Given the description of an element on the screen output the (x, y) to click on. 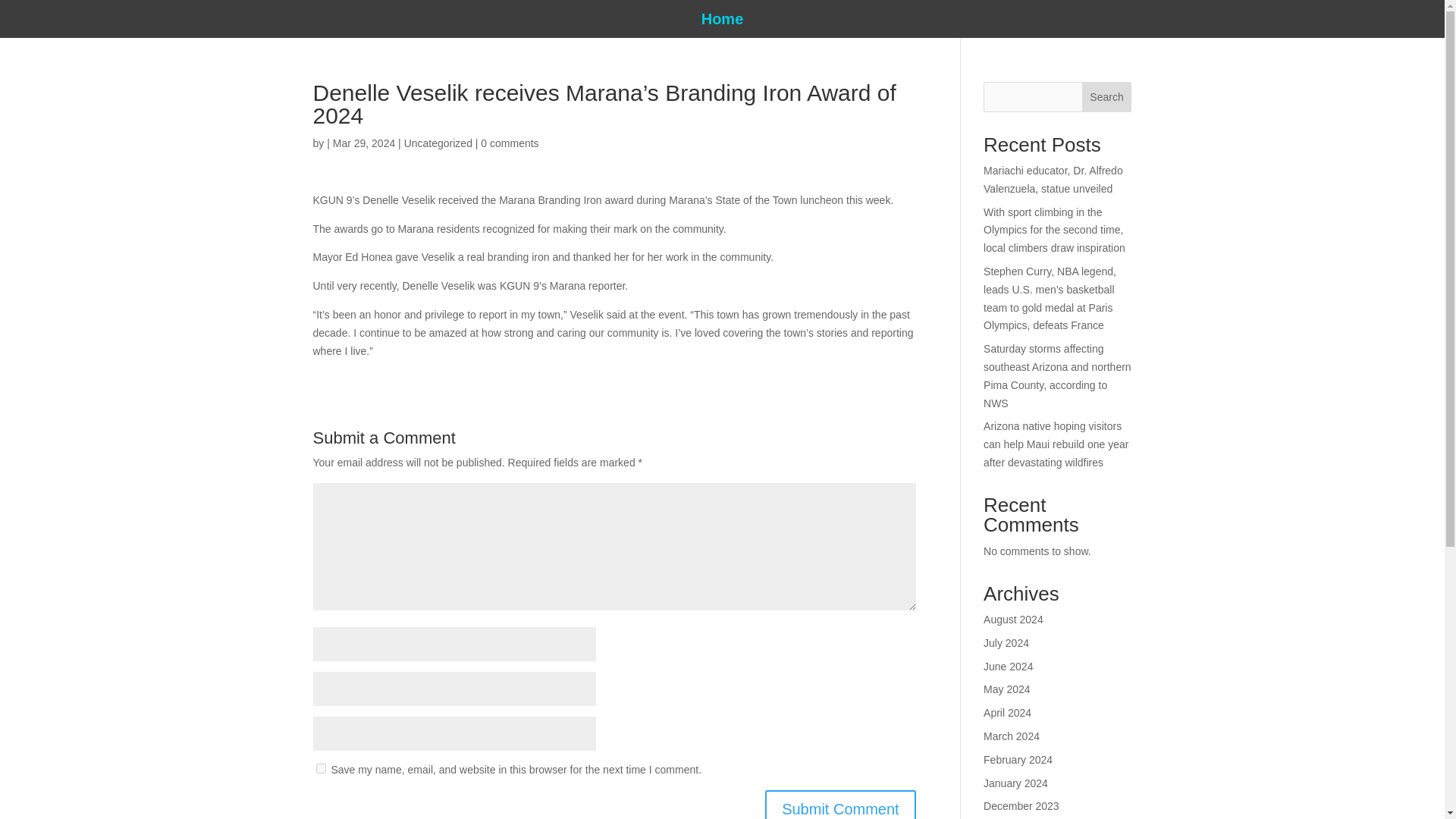
yes (319, 768)
July 2024 (1006, 643)
Home (722, 21)
Uncategorized (437, 143)
May 2024 (1006, 689)
February 2024 (1018, 759)
December 2023 (1021, 806)
June 2024 (1008, 666)
Submit Comment (840, 804)
